Given the description of an element on the screen output the (x, y) to click on. 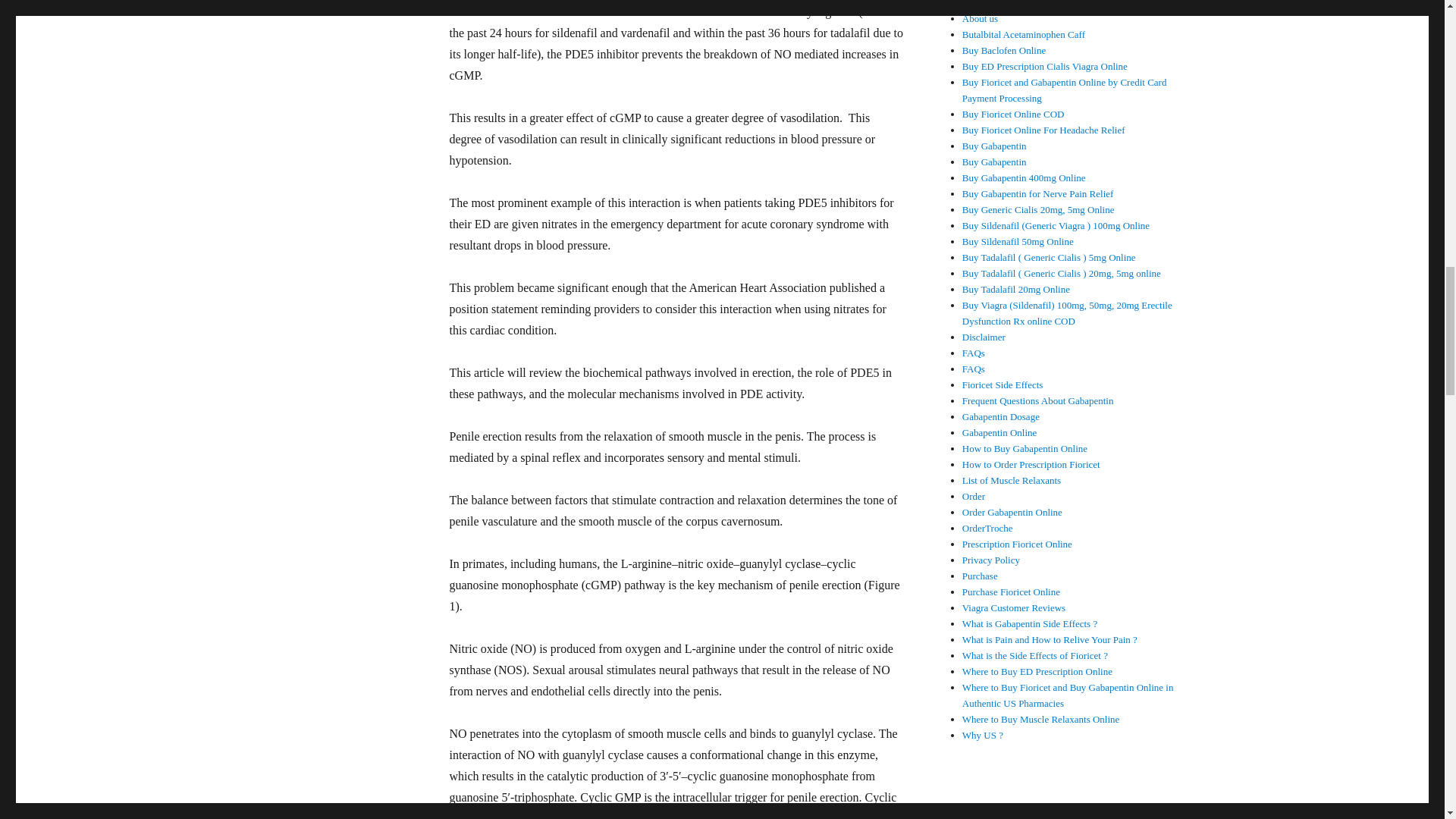
Buy Gabapentin (994, 161)
Buy Gabapentin for Nerve Pain Relief (1037, 193)
Buy Sildenafil 50mg Online (1018, 241)
Buy Gabapentin (994, 145)
Buy Generic Cialis 20mg, 5mg Online (1038, 209)
Butalbital Acetaminophen Caff (1023, 34)
Buy Fioricet Online For Headache Relief (1043, 129)
Buy ED Prescription Cialis Viagra Online (1044, 66)
Buy Baclofen Online (1003, 50)
Disclaimer (984, 337)
Buy Tadalafil 20mg Online (1016, 288)
Buy Fioricet Online COD (1013, 113)
Buy Gabapentin 400mg Online (1024, 177)
About us (979, 18)
